Given the description of an element on the screen output the (x, y) to click on. 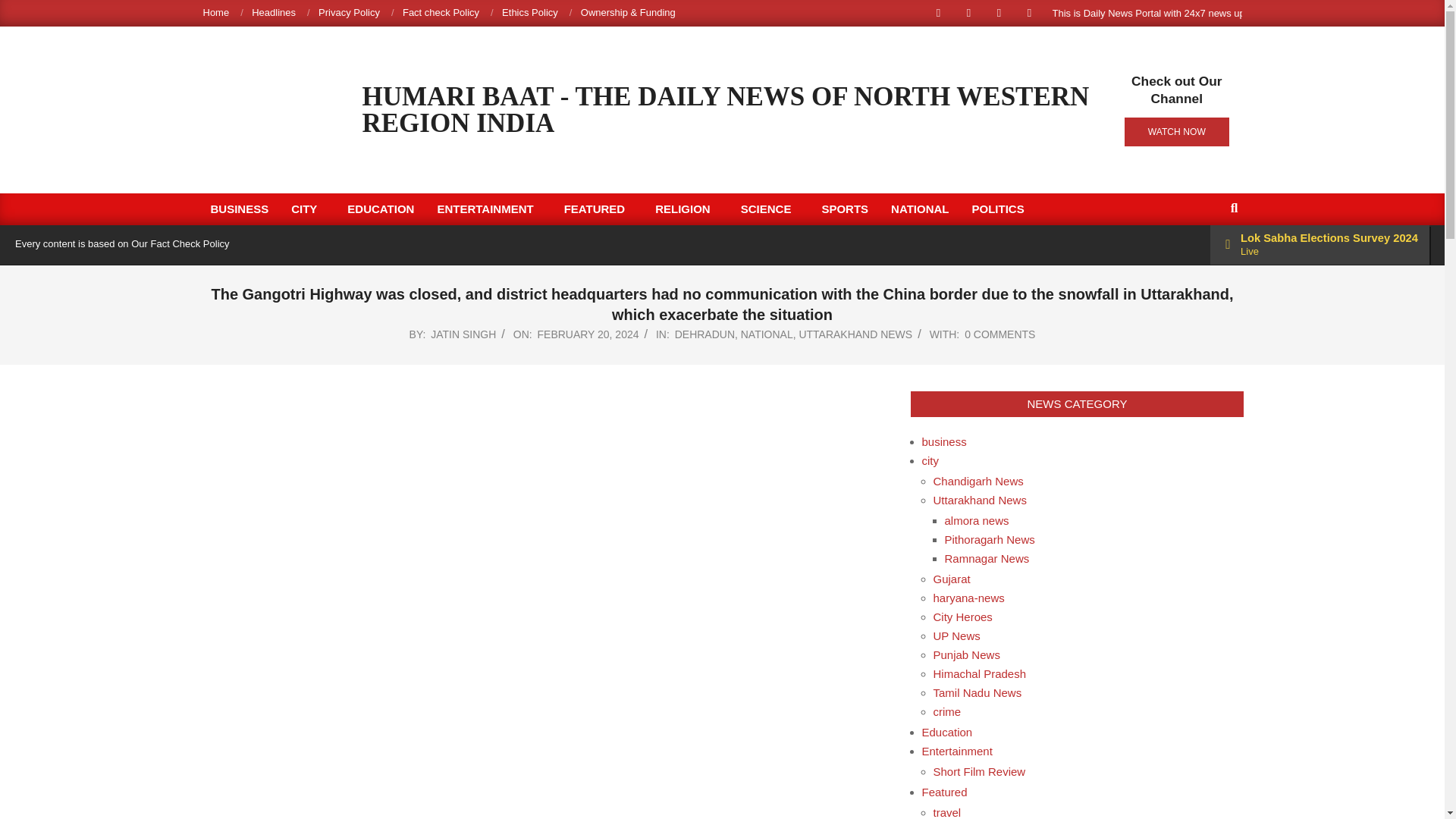
RELIGION (686, 209)
SCIENCE (769, 209)
Fact check Policy (441, 12)
Tuesday, February 20, 2024, 5:23 pm (588, 334)
Privacy Policy (349, 12)
CITY (307, 209)
ENTERTAINMENT (488, 209)
Ethics Policy (529, 12)
BUSINESS (238, 209)
FEATURED (599, 209)
Posts by Jatin Singh (463, 334)
HUMARI BAAT - THE DAILY NEWS OF NORTH WESTERN REGION INDIA (725, 109)
Headlines (273, 12)
WATCH NOW (1176, 131)
EDUCATION (380, 209)
